Given the description of an element on the screen output the (x, y) to click on. 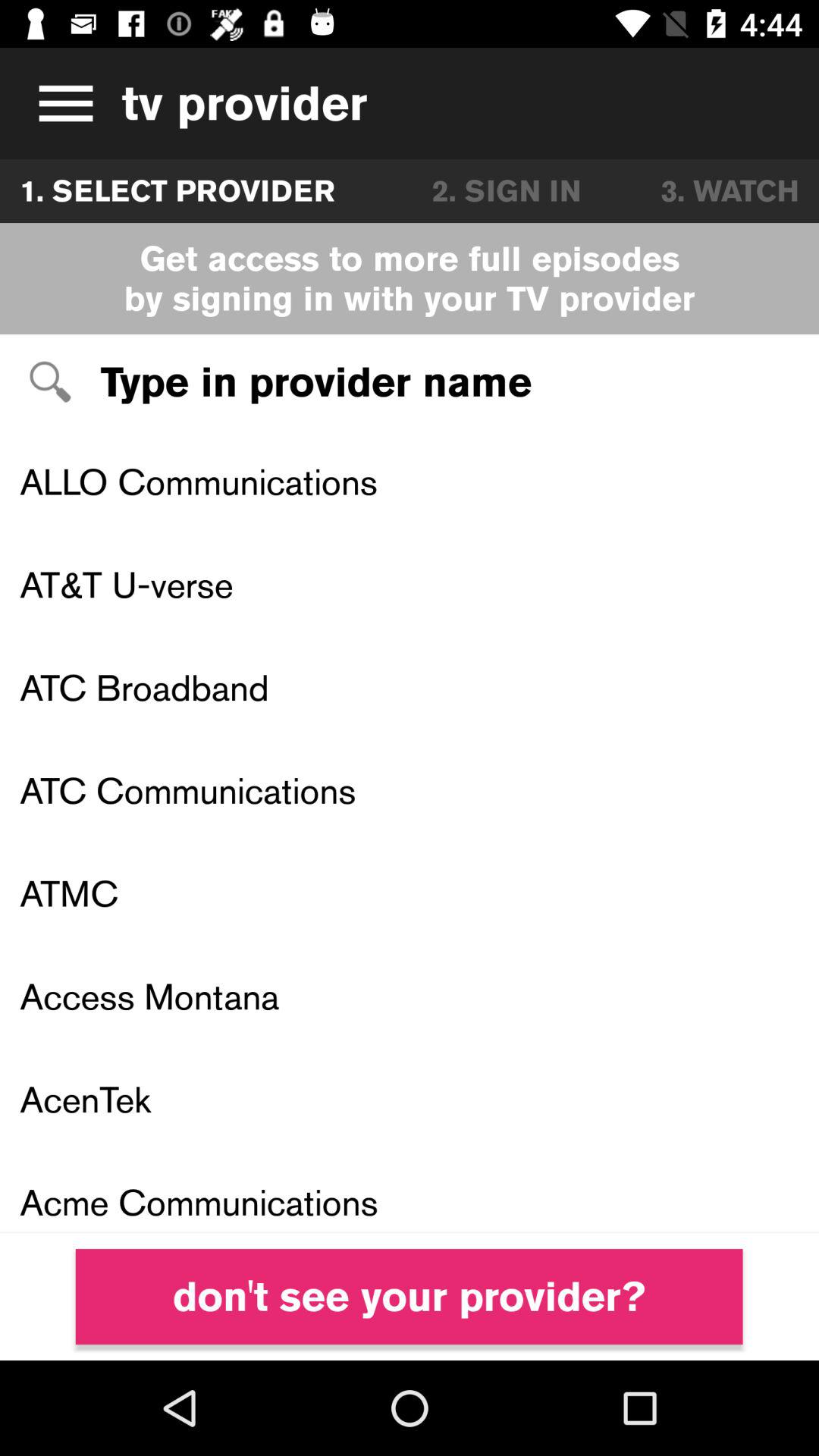
type name (409, 381)
